Given the description of an element on the screen output the (x, y) to click on. 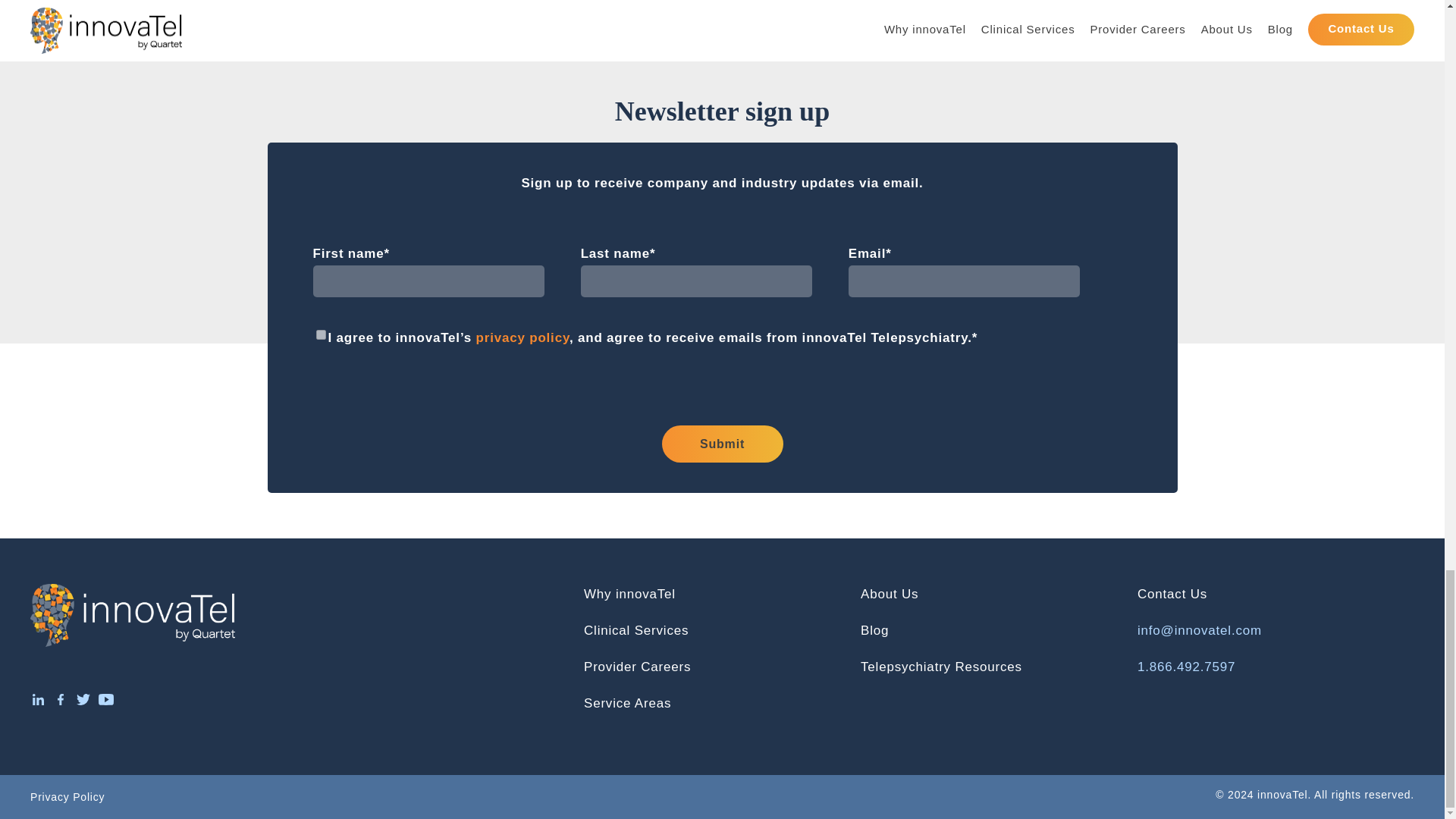
Privacy Policy (67, 797)
Clinical Services (635, 630)
Why innovaTel (629, 594)
Submit (722, 443)
privacy policy (522, 337)
Contact Us (1172, 594)
1.866.492.7597 (1185, 667)
Submit (722, 443)
Service Areas (627, 703)
Blog (874, 630)
About Us (889, 594)
Telepsychiatry Resources (941, 667)
true (319, 334)
Provider Careers (636, 667)
